Given the description of an element on the screen output the (x, y) to click on. 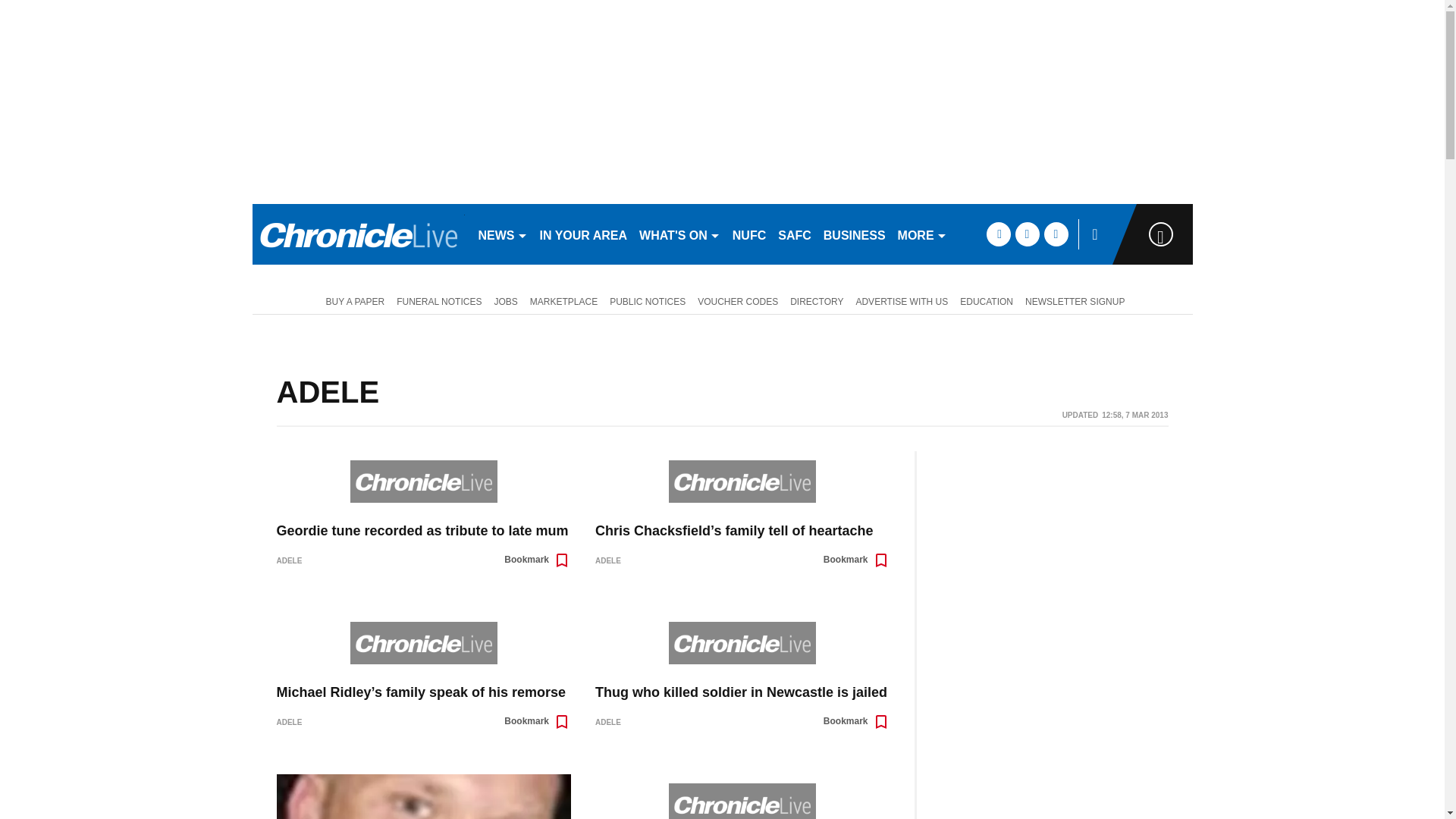
MORE (922, 233)
WHAT'S ON (679, 233)
nechronicle (357, 233)
twitter (1026, 233)
facebook (997, 233)
instagram (1055, 233)
IN YOUR AREA (583, 233)
NEWS (501, 233)
BUSINESS (853, 233)
